Given the description of an element on the screen output the (x, y) to click on. 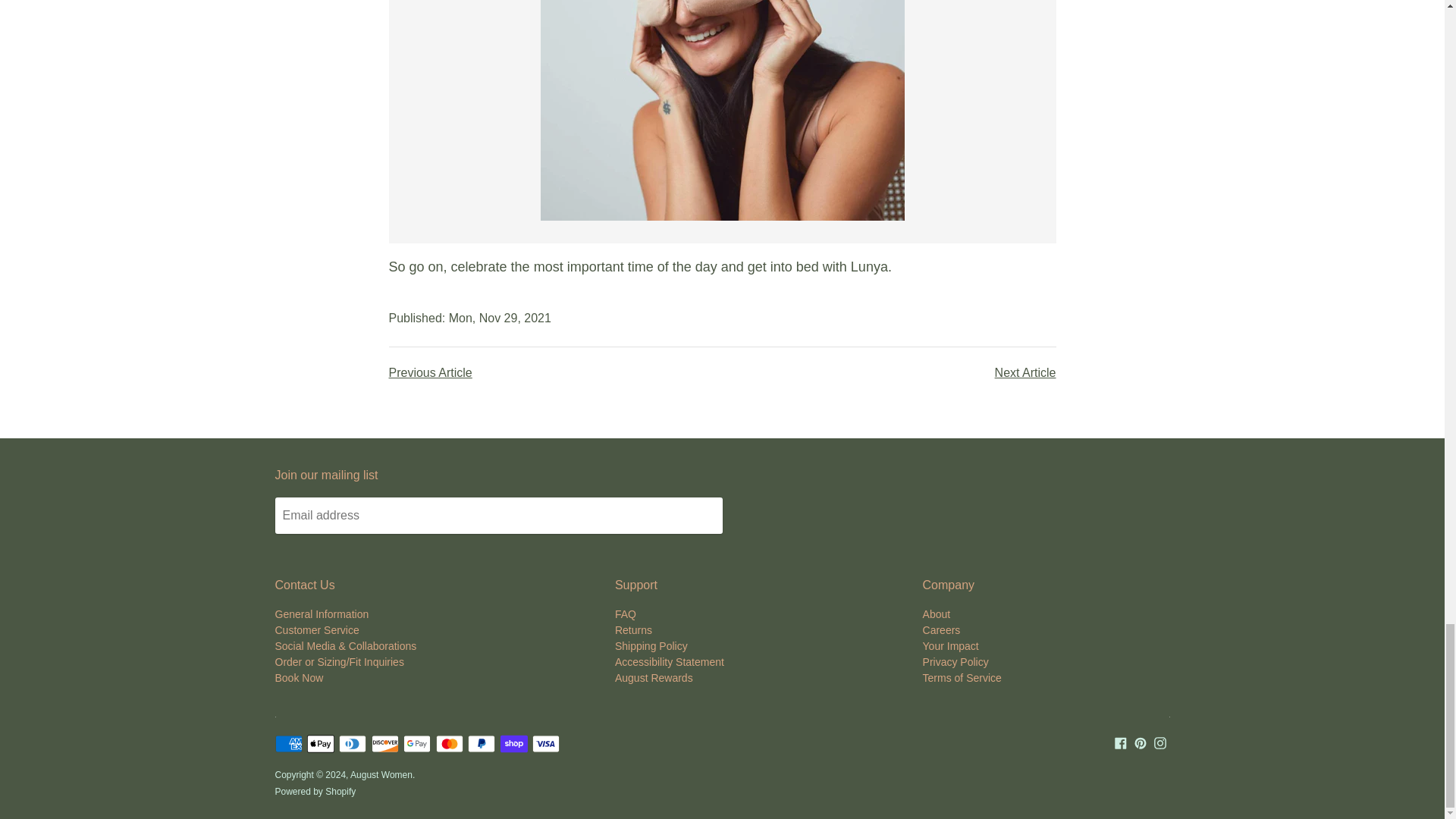
Mastercard (449, 743)
Shop Pay (513, 743)
American Express (288, 743)
August Women on Instagram (1160, 741)
Visa (545, 743)
Diners Club (352, 743)
August Women on Facebook (1120, 741)
PayPal (481, 743)
Apple Pay (320, 743)
Discover (384, 743)
August Women on Pinterest (1140, 741)
Google Pay (416, 743)
